Given the description of an element on the screen output the (x, y) to click on. 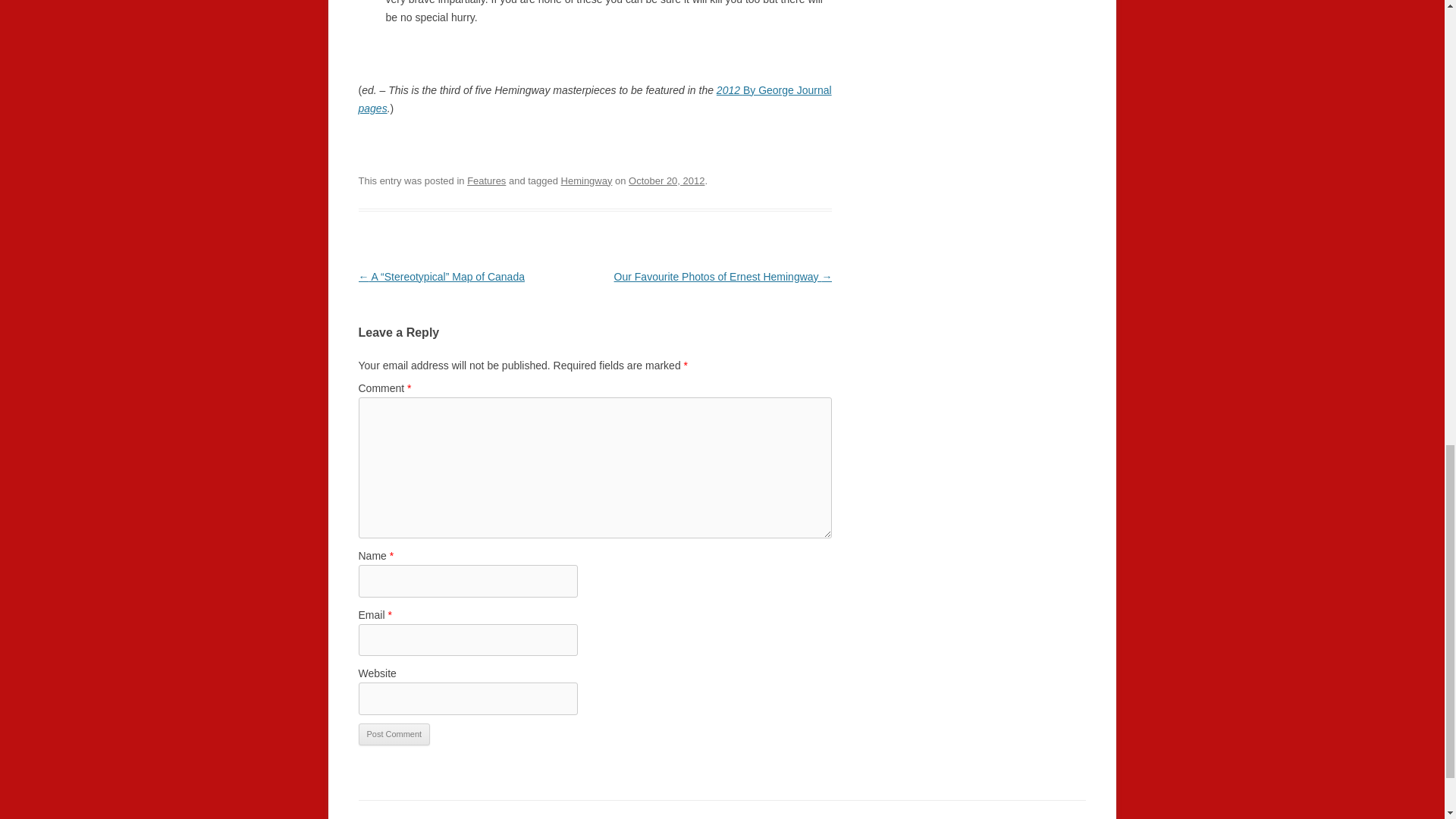
Post Comment (393, 734)
Post Comment (393, 734)
October 20, 2012 (666, 180)
By George Journal (786, 90)
2012 (729, 90)
Hemingway (586, 180)
Features (486, 180)
pages (372, 108)
11:33 (666, 180)
